Given the description of an element on the screen output the (x, y) to click on. 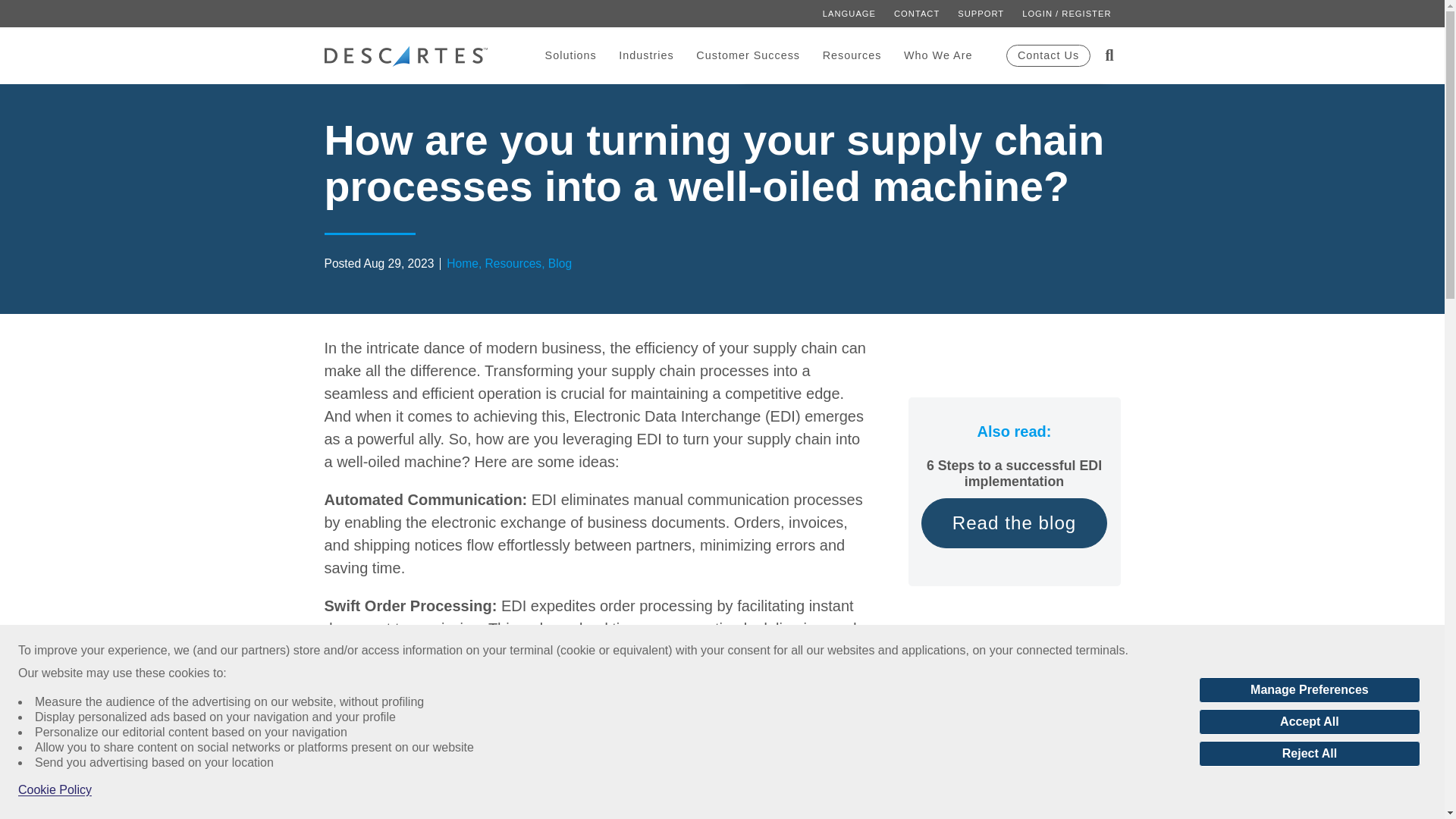
Cookie Policy (54, 789)
Search (1060, 68)
Accept All (1309, 721)
Manage Preferences (1309, 689)
Search (1060, 68)
Home (405, 55)
Reject All (1309, 753)
